Given the description of an element on the screen output the (x, y) to click on. 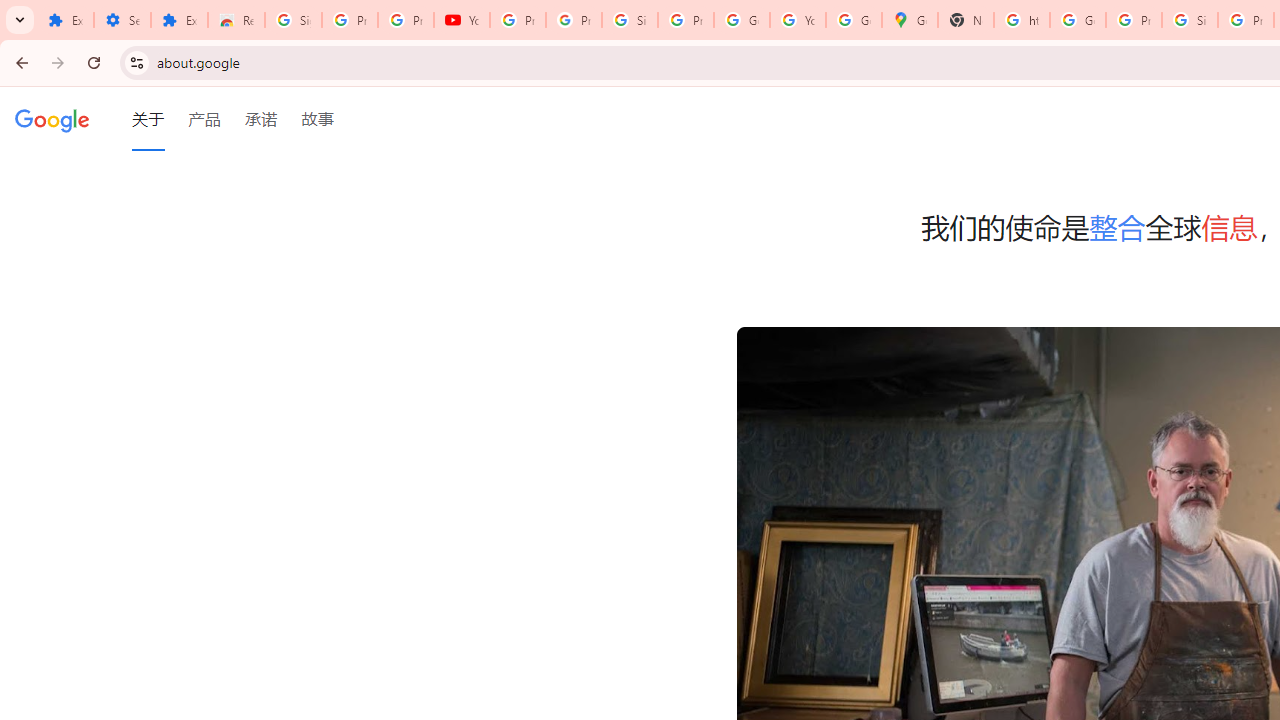
Forward (57, 62)
Extensions (179, 20)
Extensions (65, 20)
Sign in - Google Accounts (293, 20)
New Tab (966, 20)
